Given the description of an element on the screen output the (x, y) to click on. 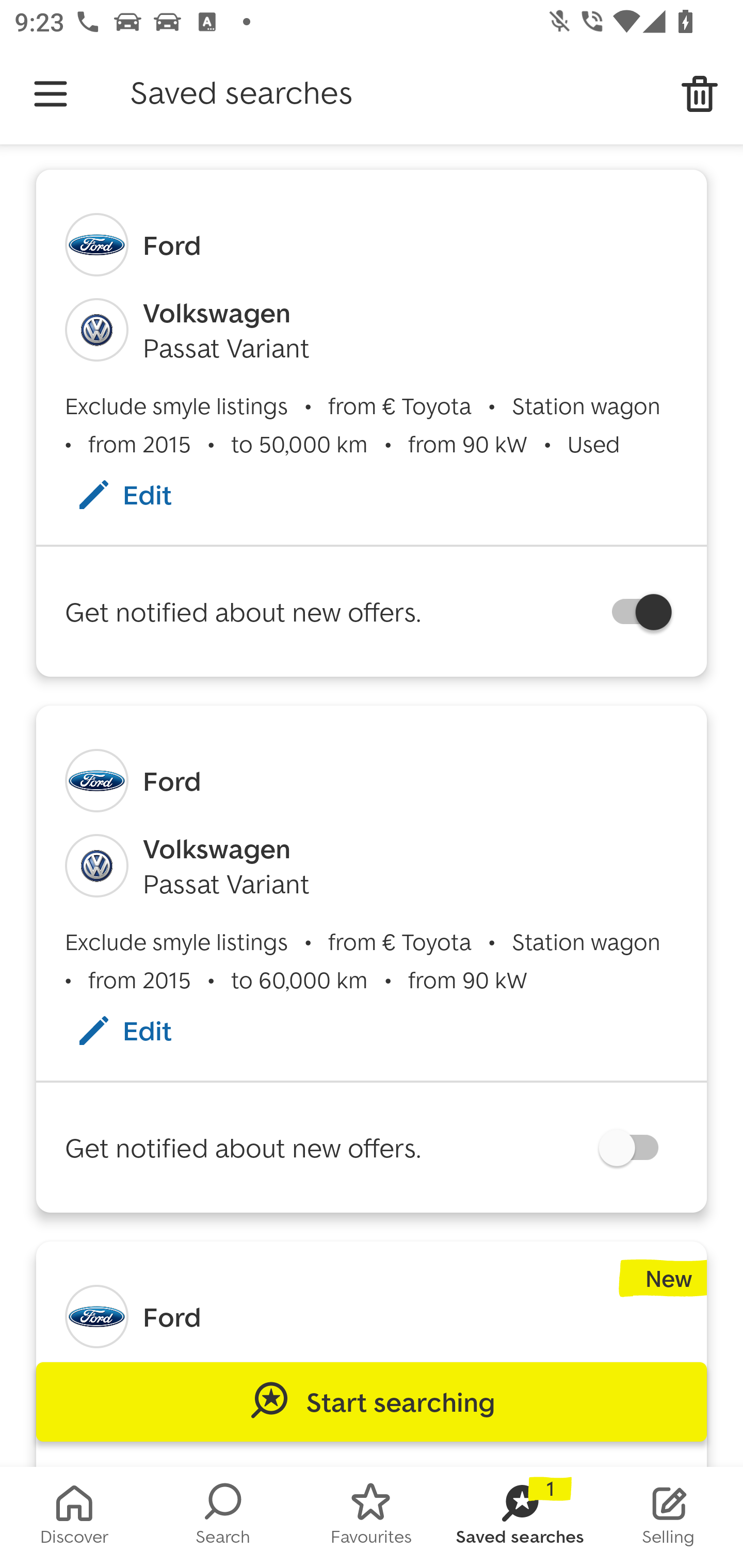
Navigate up (50, 93)
Delete vehicles (699, 93)
Edit (144, 494)
Edit (144, 1030)
Start searching (371, 1401)
HOMESCREEN Discover (74, 1517)
SEARCH Search (222, 1517)
FAVORITES Favourites (371, 1517)
SAVED_SEARCHES Saved searches 1 (519, 1517)
STOCK_LIST Selling (668, 1517)
